Given the description of an element on the screen output the (x, y) to click on. 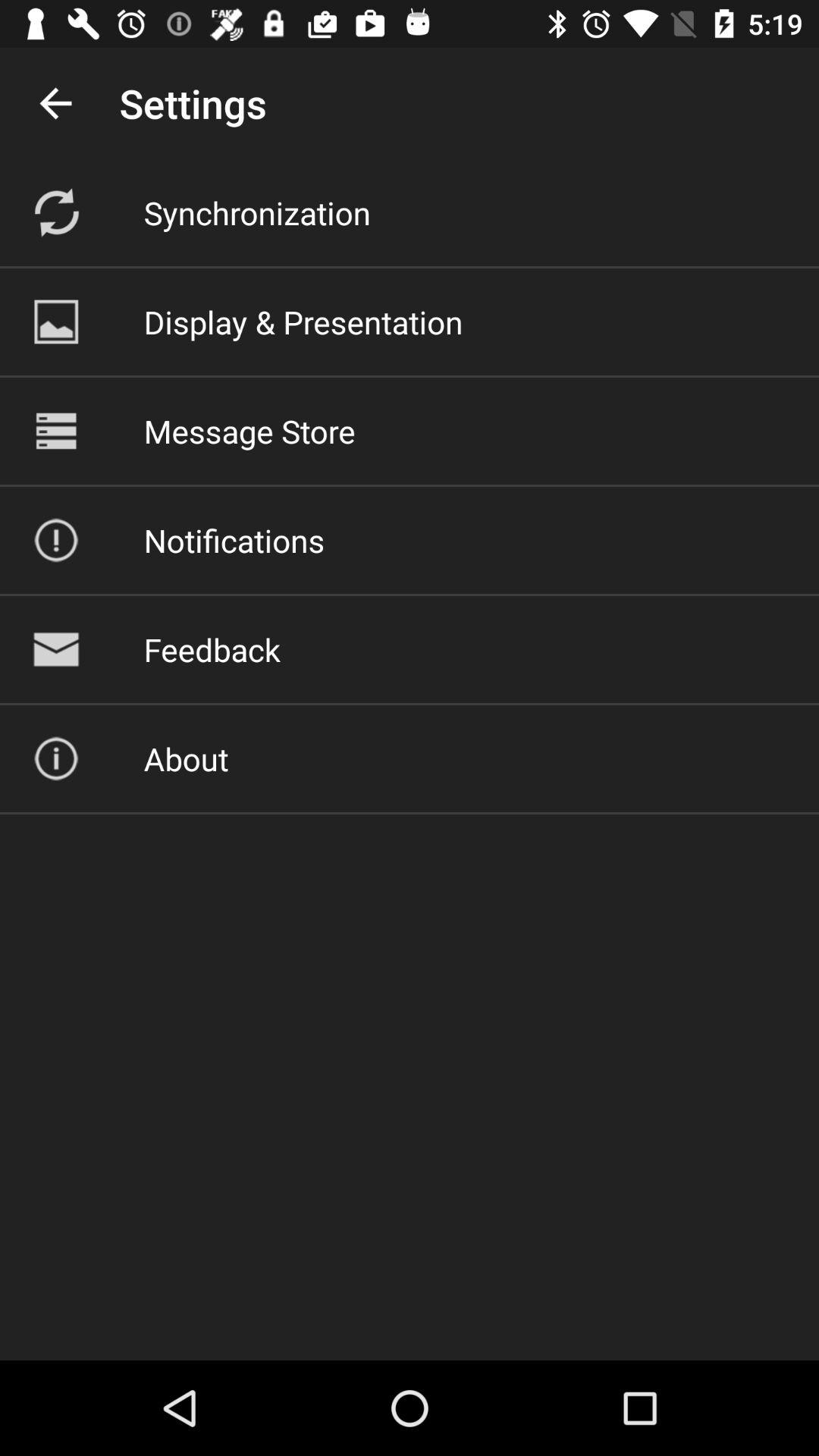
press the icon next to settings (55, 103)
